Given the description of an element on the screen output the (x, y) to click on. 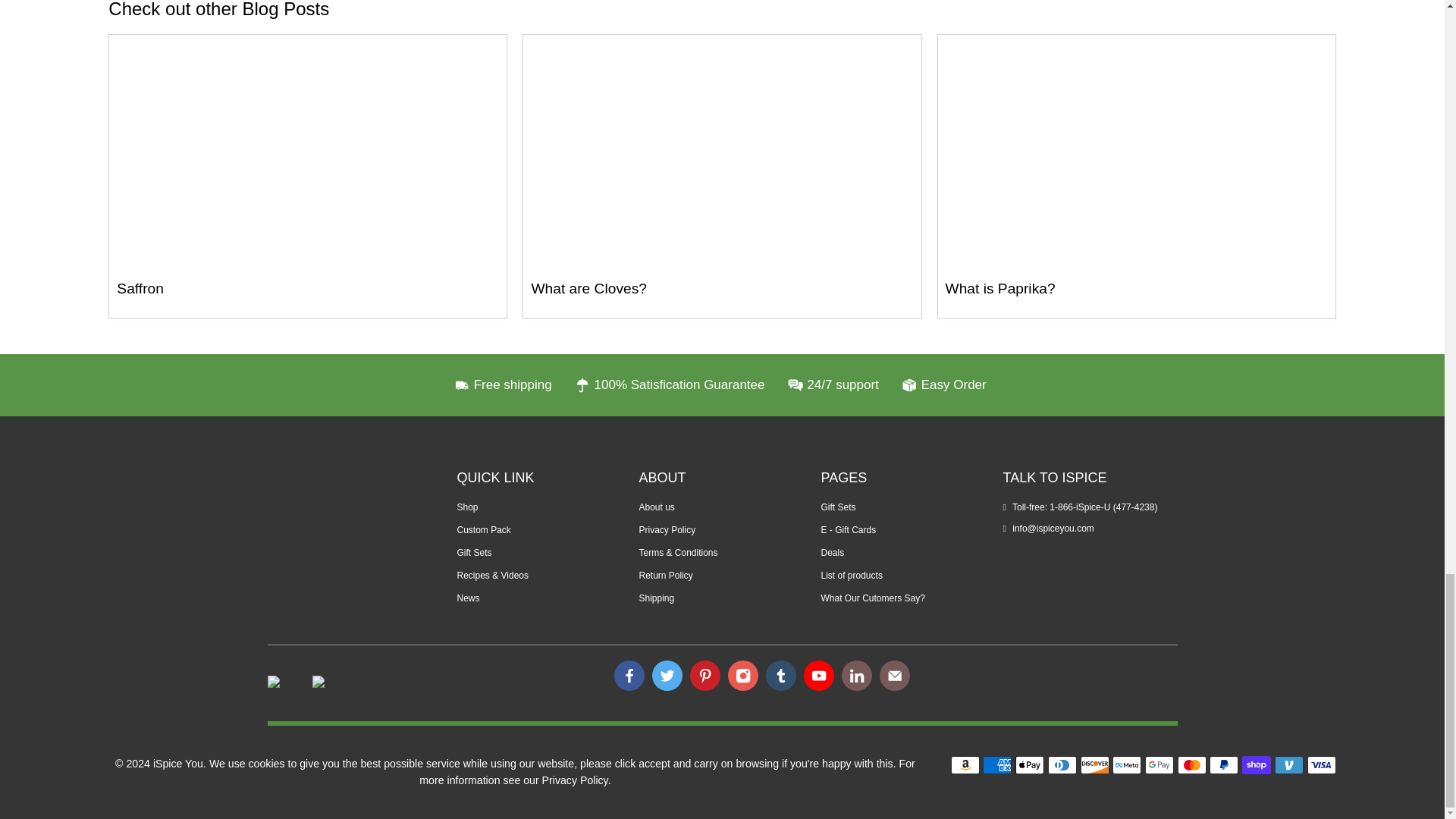
What are Cloves? (721, 153)
Saffron (139, 288)
iSpice You on Facebook (629, 675)
Saffron (307, 153)
What are Cloves? (588, 288)
What is Paprika? (999, 288)
What is Paprika? (1136, 153)
iSpice You on Twitter (667, 675)
iSpice You (341, 516)
